Given the description of an element on the screen output the (x, y) to click on. 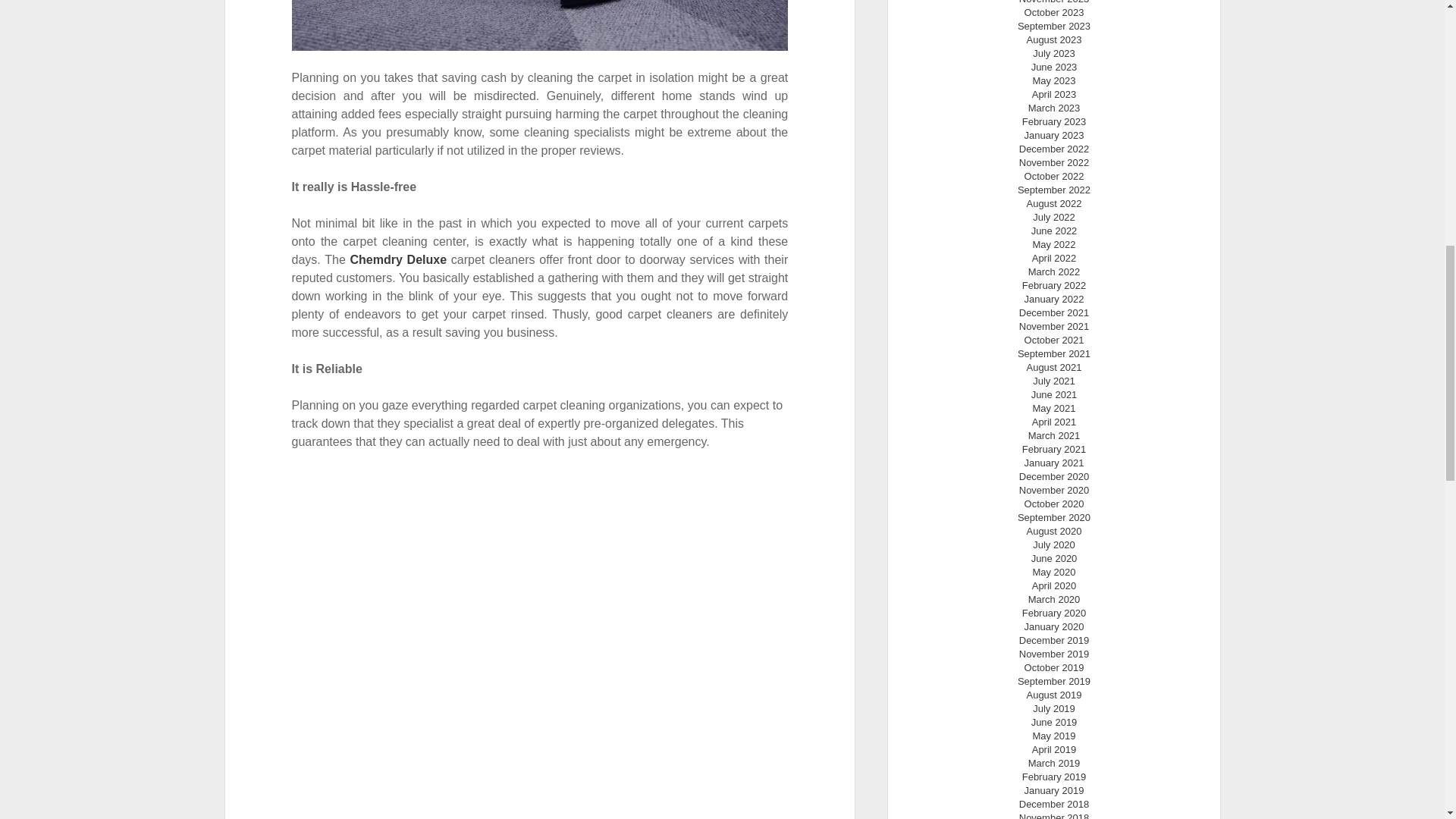
August 2023 (1053, 39)
September 2023 (1053, 25)
July 2023 (1053, 52)
October 2023 (1054, 12)
Chemdry Deluxe (398, 259)
June 2023 (1053, 66)
November 2023 (1054, 2)
